Given the description of an element on the screen output the (x, y) to click on. 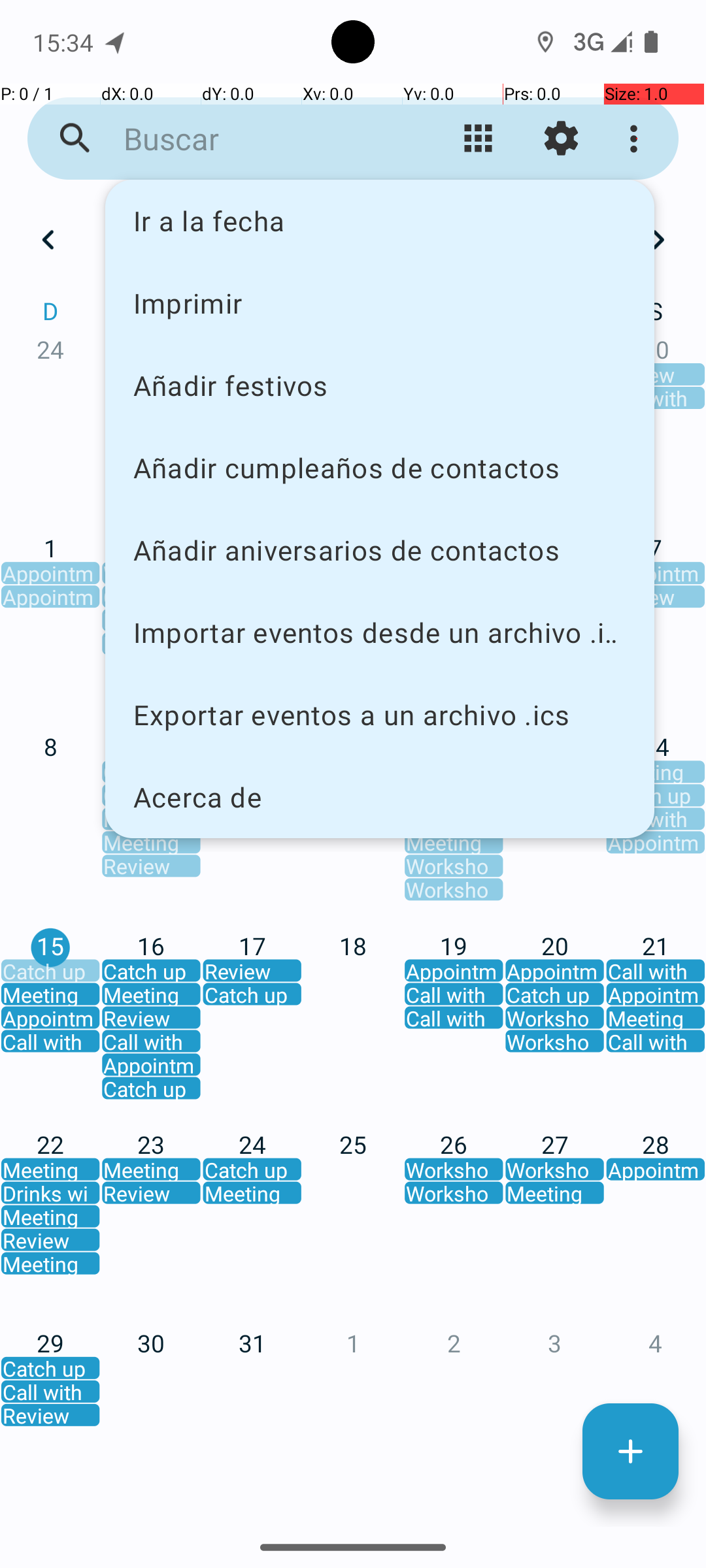
Ir a la fecha Element type: android.widget.TextView (379, 220)
Imprimir Element type: android.widget.TextView (379, 302)
Añadir festivos Element type: android.widget.TextView (379, 384)
Añadir cumpleaños de contactos Element type: android.widget.TextView (379, 467)
Añadir aniversarios de contactos Element type: android.widget.TextView (379, 549)
Importar eventos desde un archivo .ics Element type: android.widget.TextView (379, 631)
Exportar eventos a un archivo .ics Element type: android.widget.TextView (379, 714)
Acerca de Element type: android.widget.TextView (379, 796)
